Given the description of an element on the screen output the (x, y) to click on. 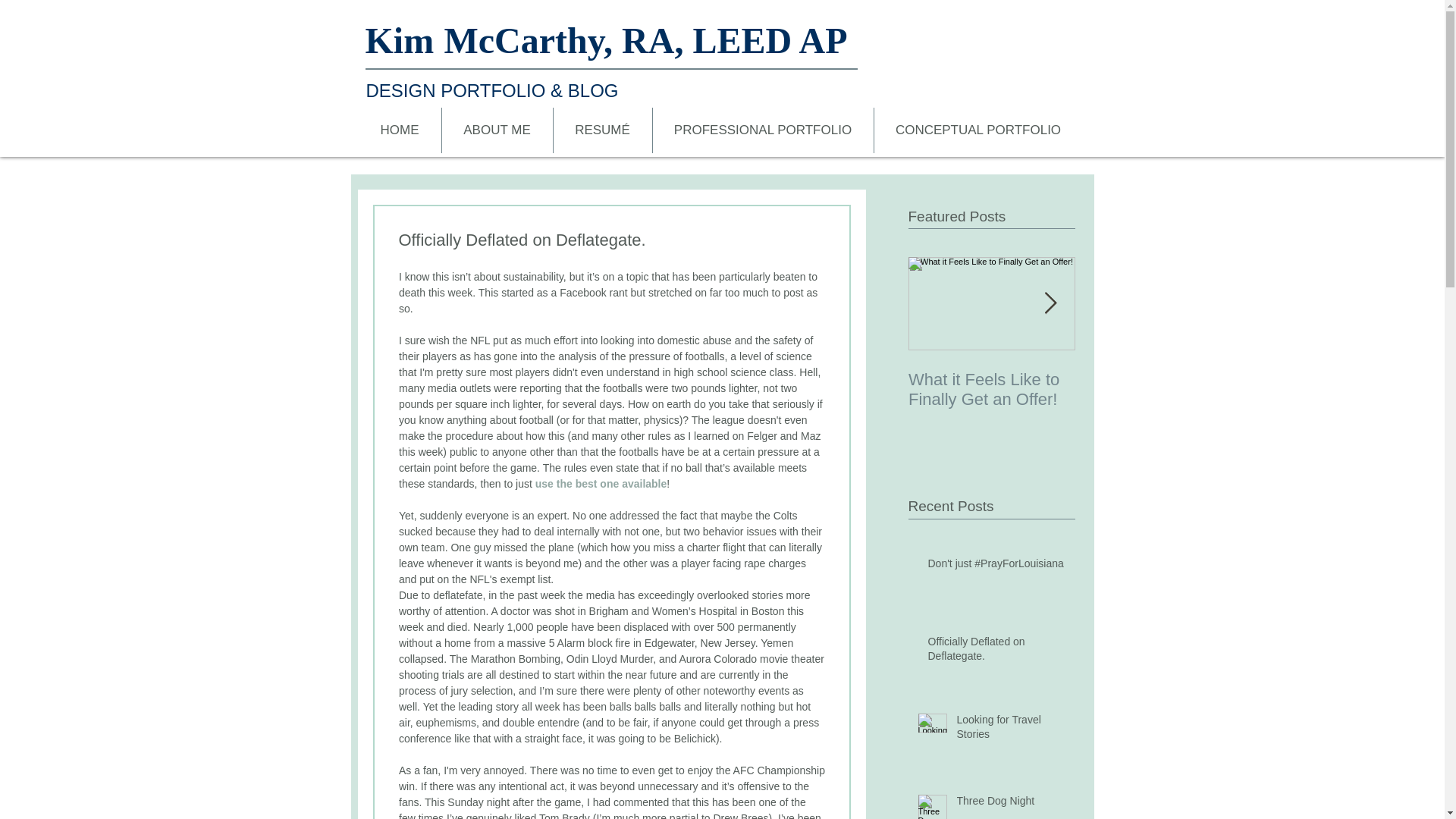
ABOUT ME (496, 130)
use the best one available (600, 483)
HOME (399, 130)
CONCEPTUAL PORTFOLIO (977, 130)
PROFESSIONAL PORTFOLIO (762, 130)
